Given the description of an element on the screen output the (x, y) to click on. 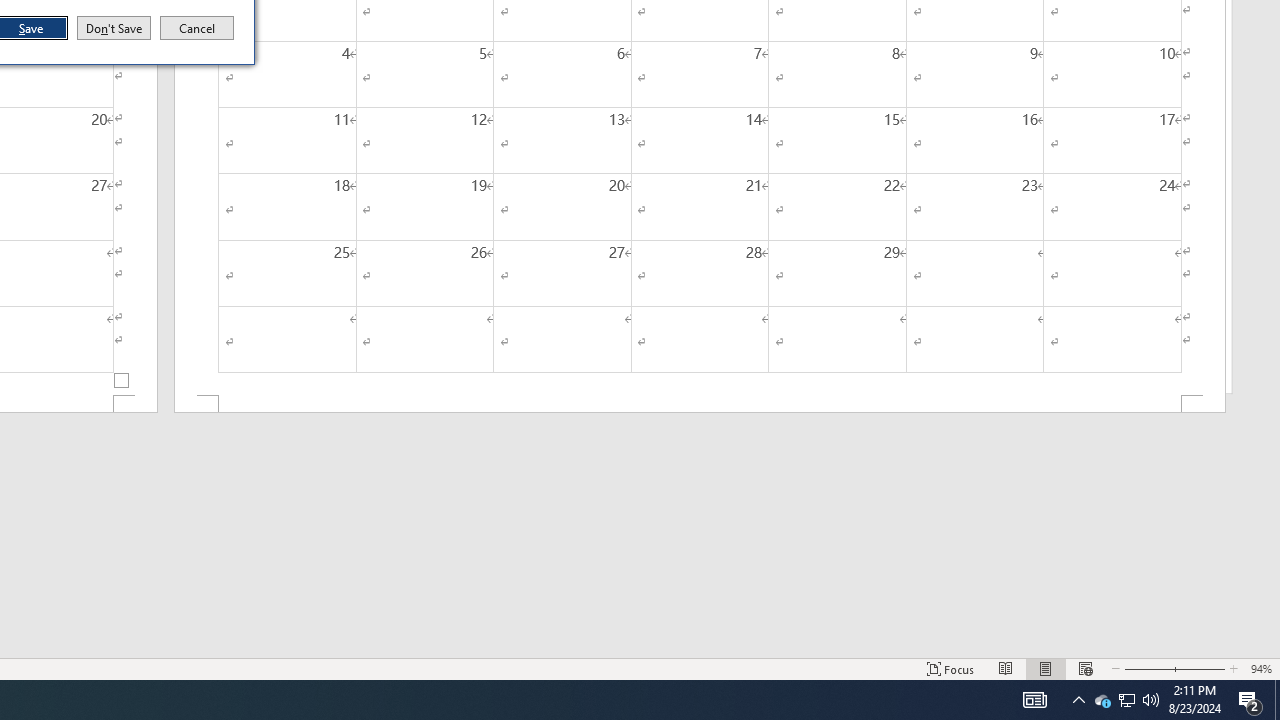
Cancel (197, 27)
